Given the description of an element on the screen output the (x, y) to click on. 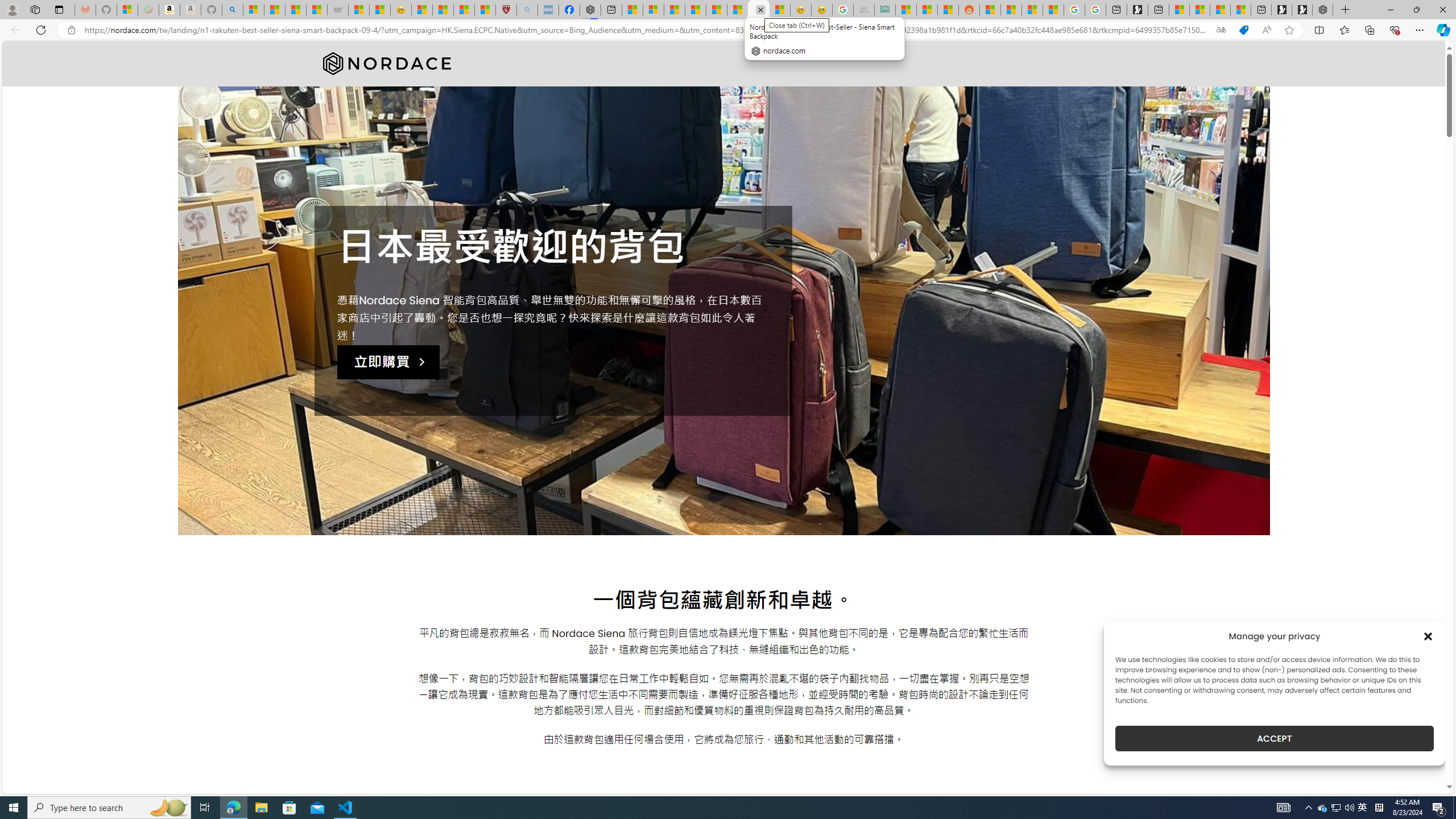
Navy Quest (863, 9)
Add this page to favorites (Ctrl+D) (1289, 29)
MSN (948, 9)
R******* | Trusted Community Engagement and Contributions (990, 9)
Restore (1416, 9)
12 Popular Science Lies that Must be Corrected (485, 9)
Personal Profile (12, 9)
Stocks - MSN (316, 9)
Close (1442, 9)
Nordace - Nordace Siena Is Not An Ordinary Backpack (1322, 9)
Back (13, 29)
Read aloud this page (Ctrl+Shift+U) (1266, 29)
